Given the description of an element on the screen output the (x, y) to click on. 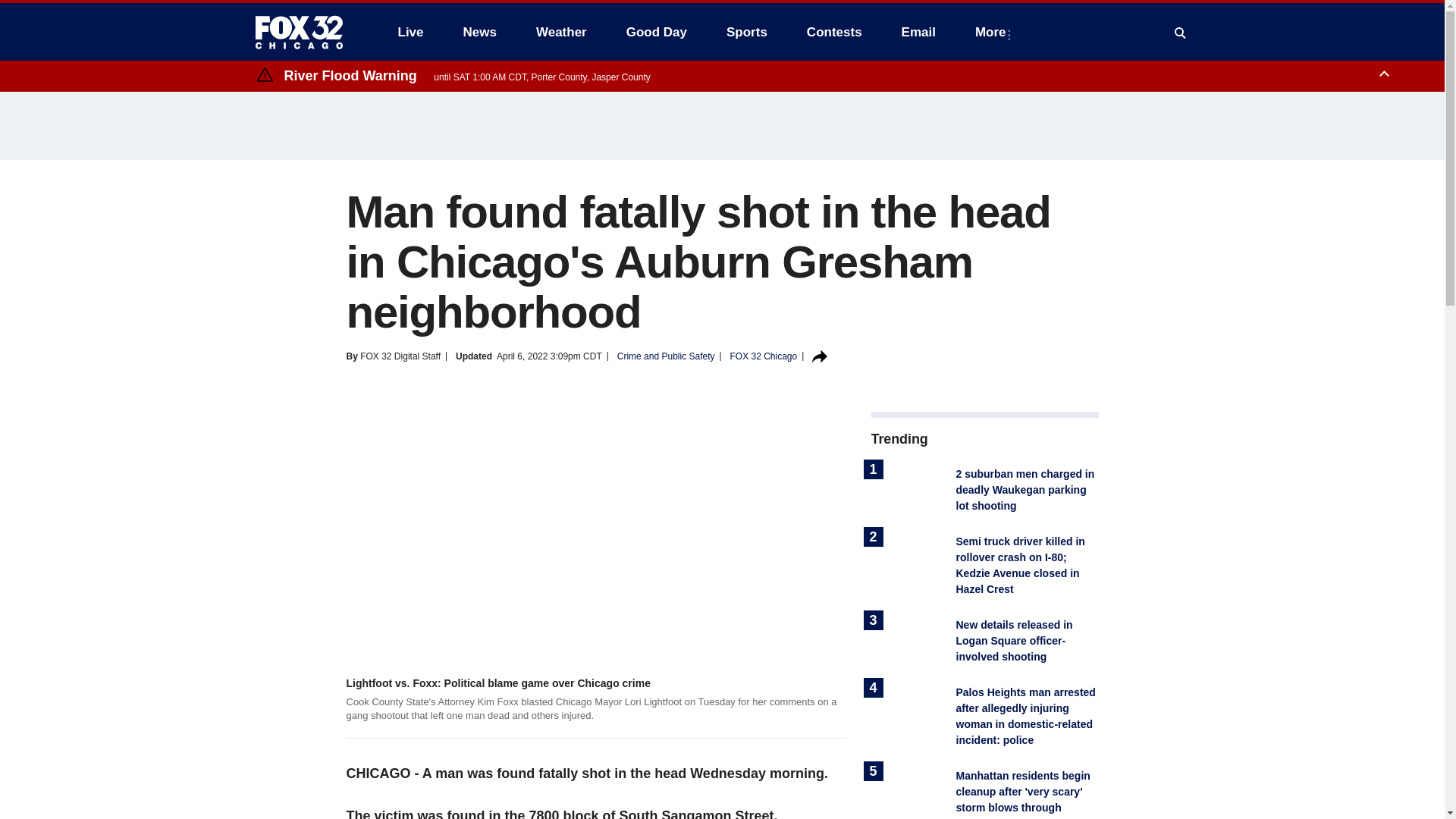
News (479, 32)
Live (410, 32)
More (993, 32)
Email (918, 32)
Contests (834, 32)
Sports (746, 32)
Weather (561, 32)
Good Day (656, 32)
